Given the description of an element on the screen output the (x, y) to click on. 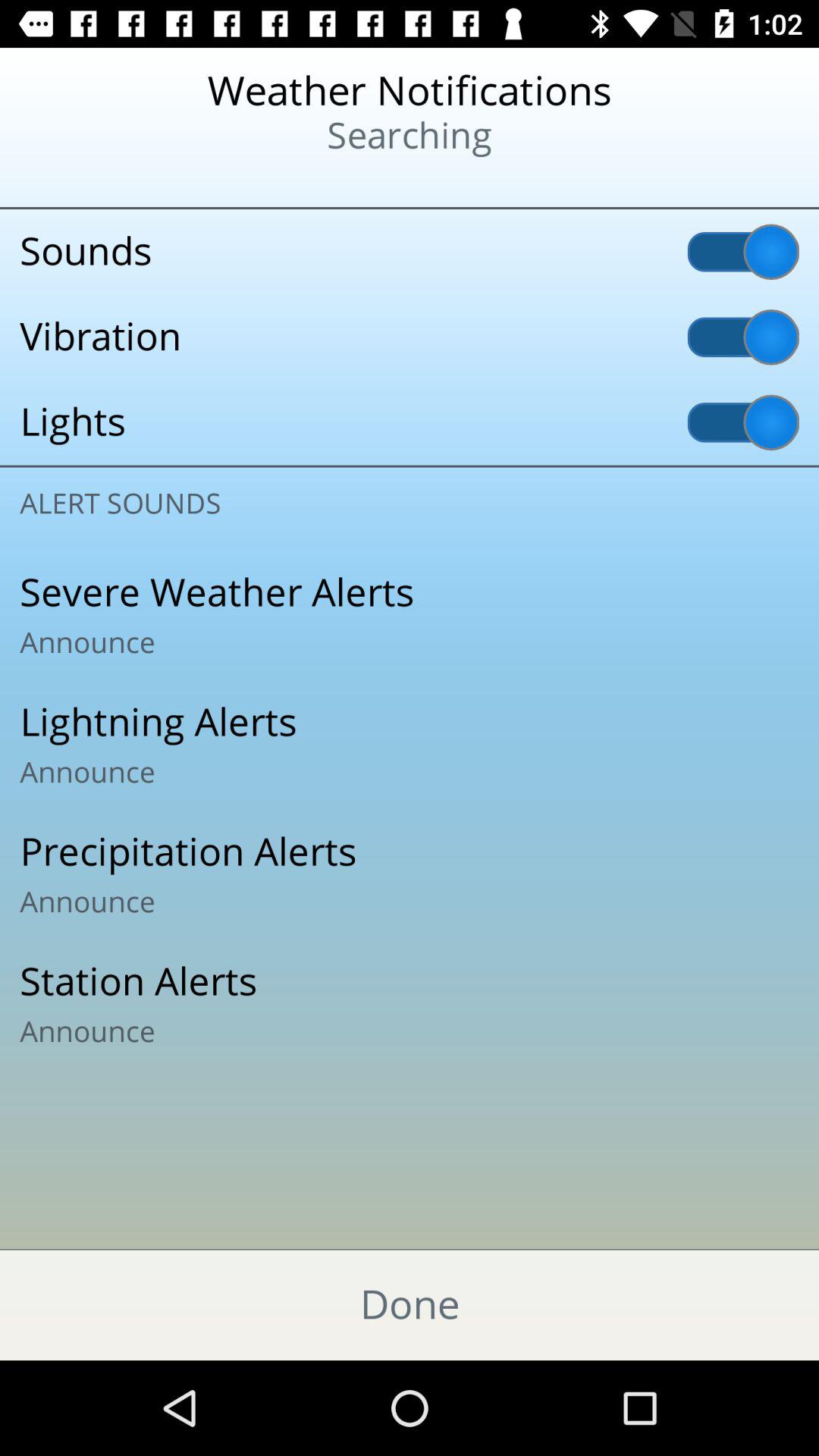
swipe to the lights item (409, 422)
